Given the description of an element on the screen output the (x, y) to click on. 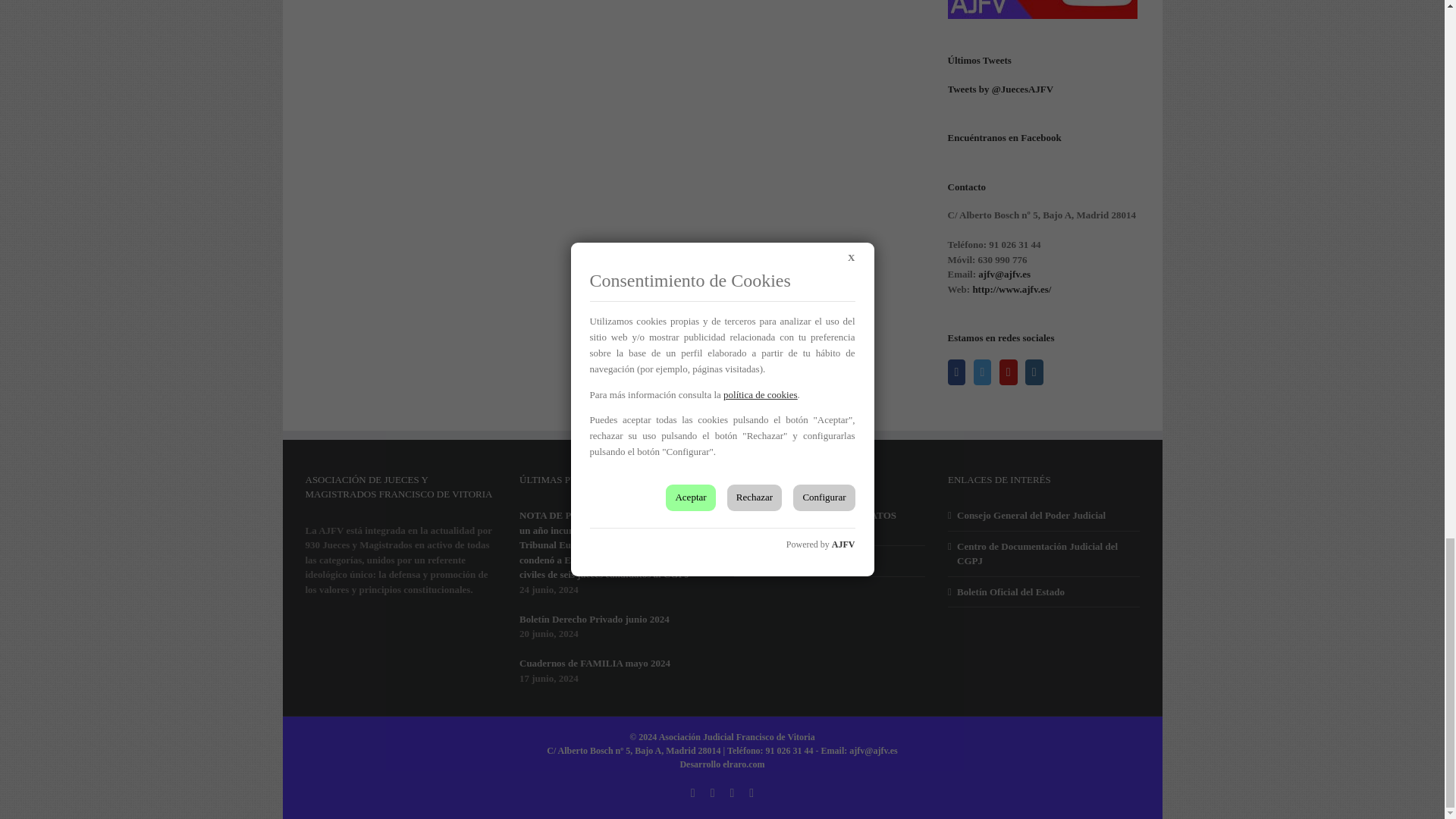
Videos AJFV (1042, 9)
